Given the description of an element on the screen output the (x, y) to click on. 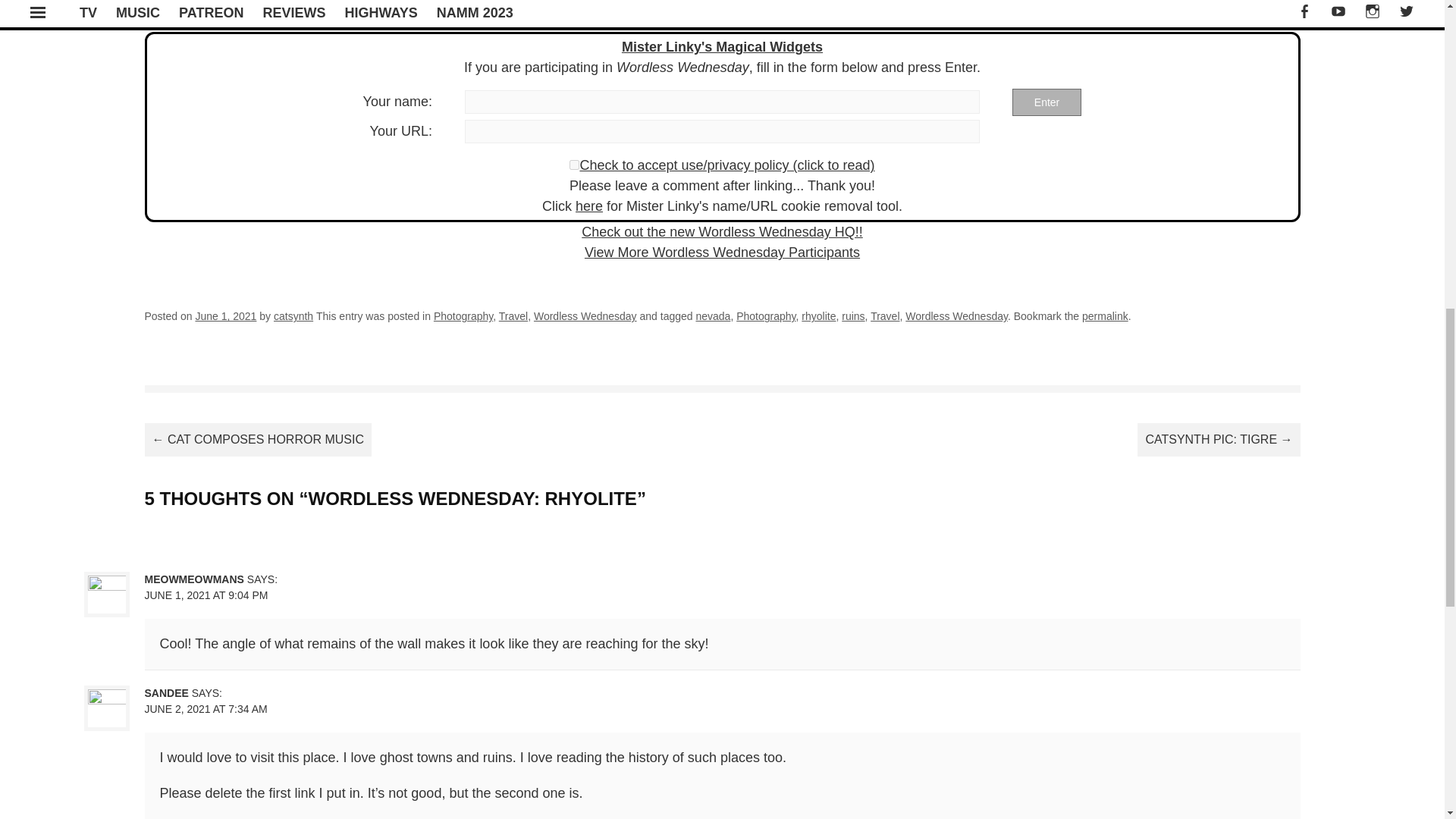
  Enter   (1046, 102)
on (574, 164)
